Given the description of an element on the screen output the (x, y) to click on. 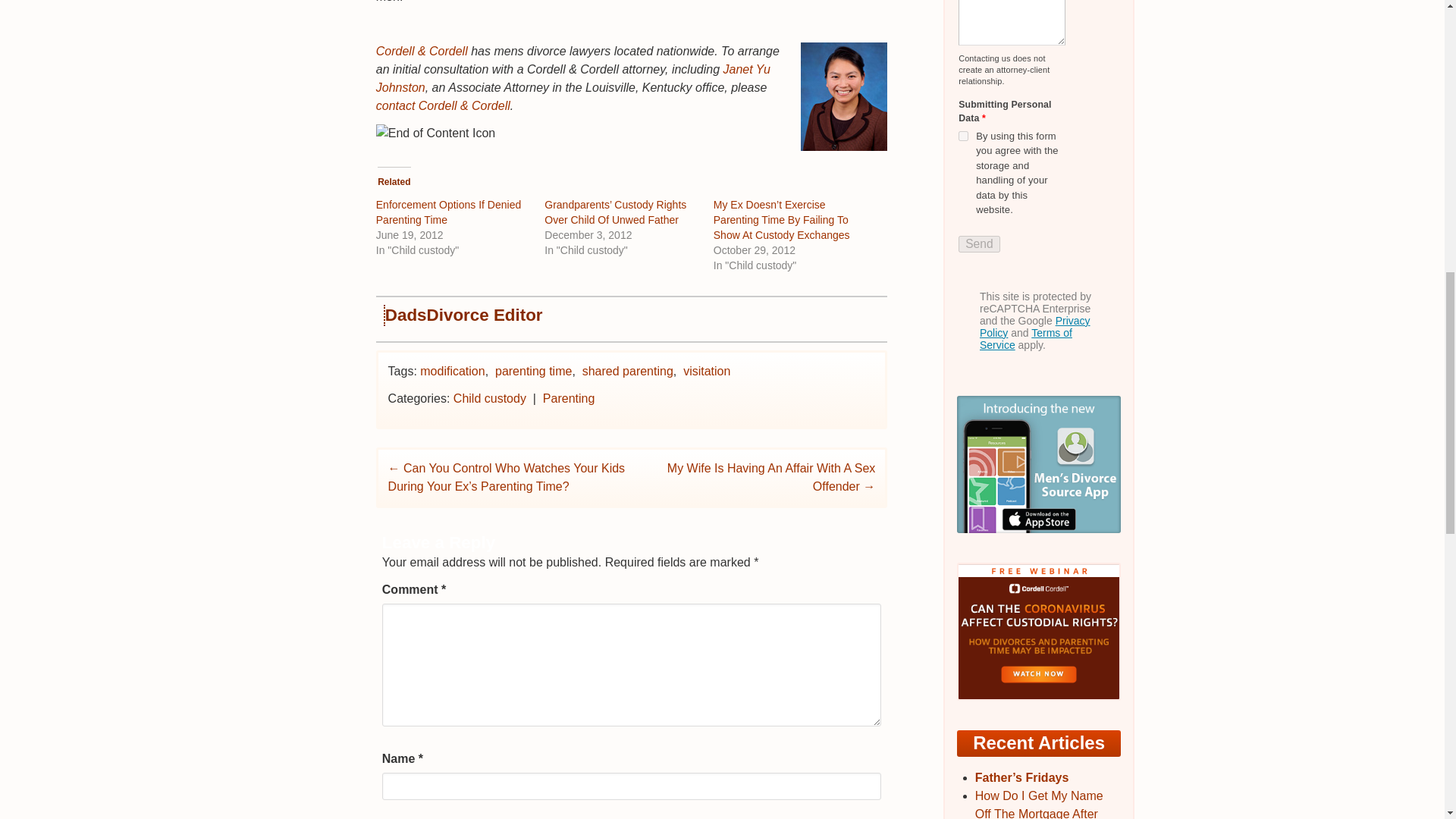
Divorce lawyer Janet Yu Johnston (572, 78)
modification (452, 370)
Janet Yu Johnston (572, 78)
DadsDivorce Editor (464, 314)
Enforcement Options If Denied Parenting Time (448, 212)
parenting time (533, 370)
